Given the description of an element on the screen output the (x, y) to click on. 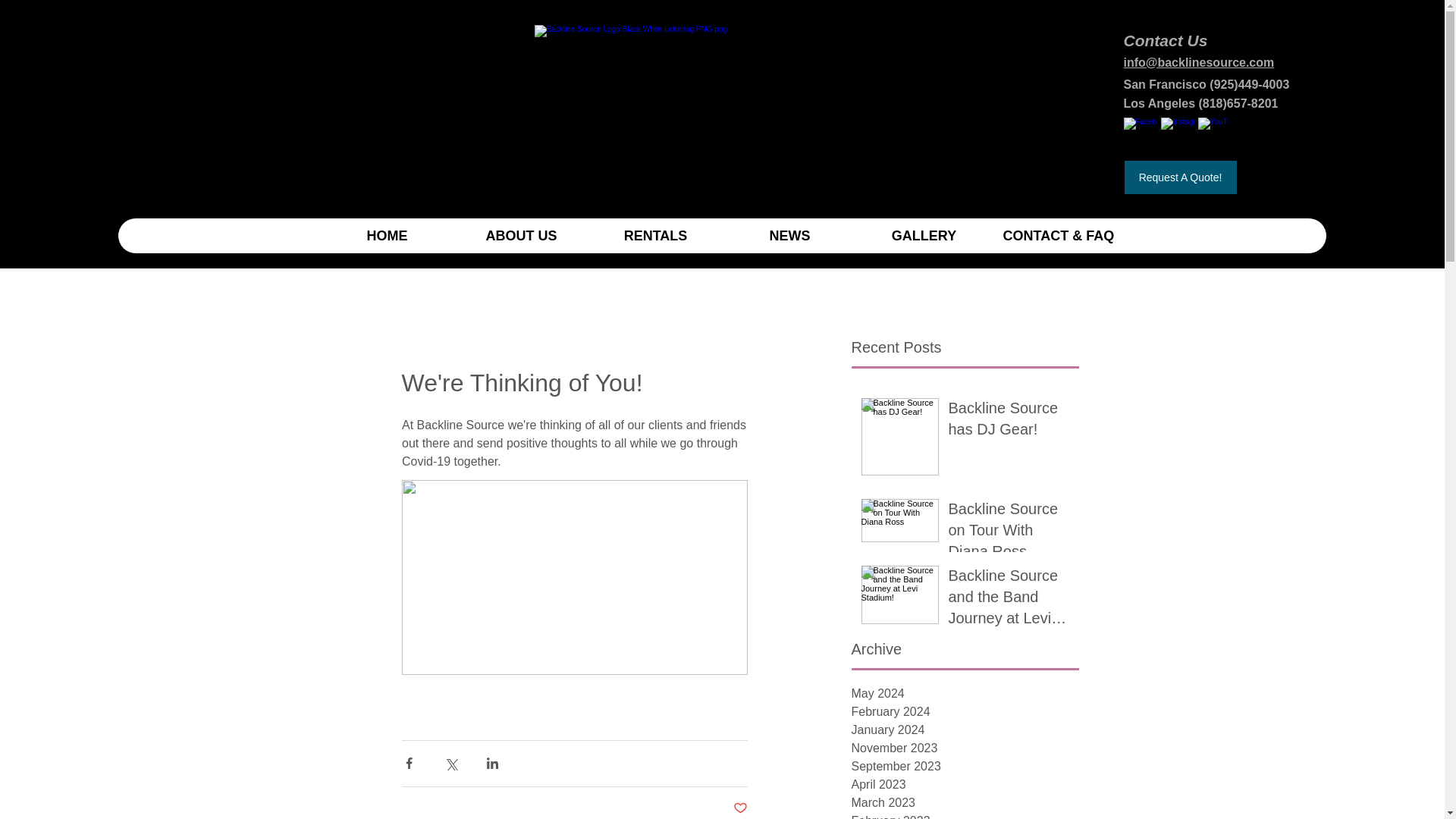
GALLERY (924, 235)
February 2024 (964, 711)
Contact Us (1166, 40)
Backline Source has DJ Gear! (1007, 421)
NEWS (789, 235)
RENTALS (655, 235)
March 2023 (964, 802)
ABOUT US (520, 235)
January 2024 (964, 730)
May 2024 (964, 693)
